Given the description of an element on the screen output the (x, y) to click on. 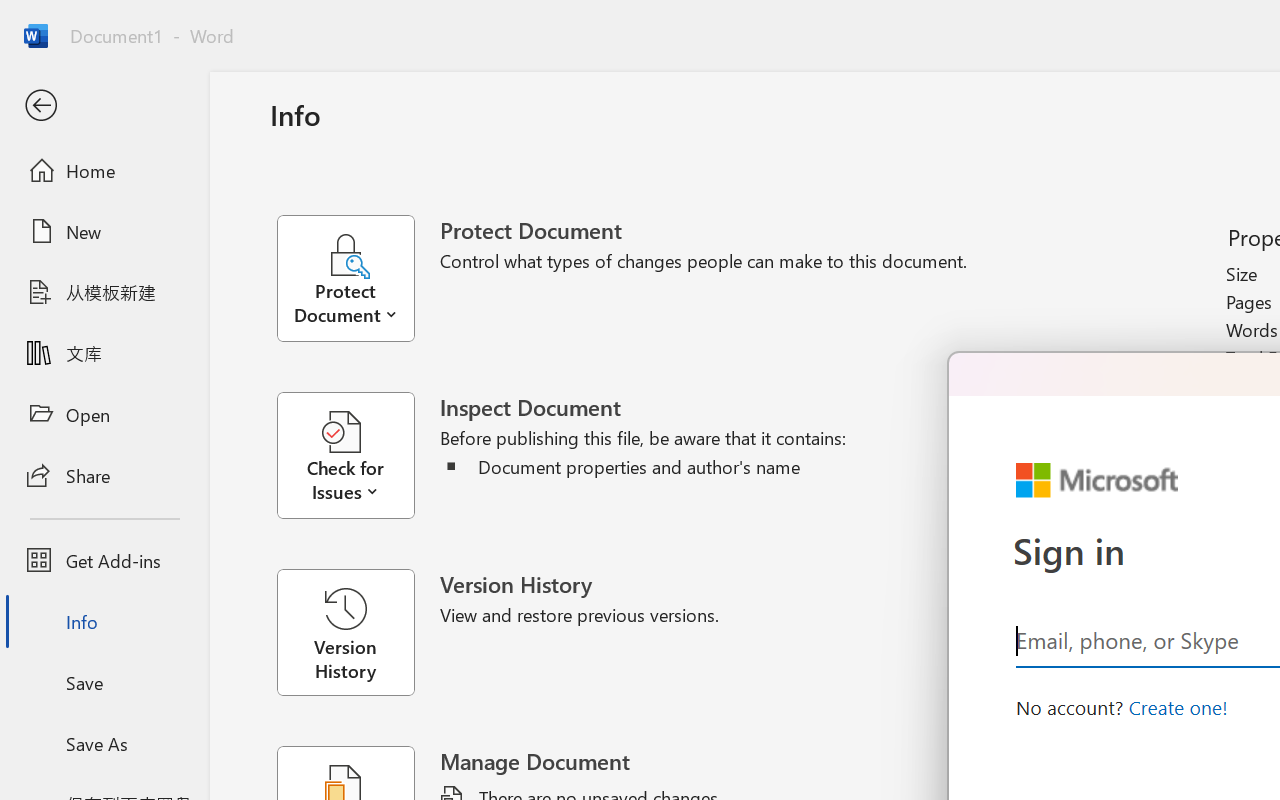
Get Add-ins (104, 560)
New (104, 231)
Back (104, 106)
Info (104, 621)
Version History (345, 632)
Save As (104, 743)
Check for Issues (358, 455)
Protect Document (358, 278)
